Given the description of an element on the screen output the (x, y) to click on. 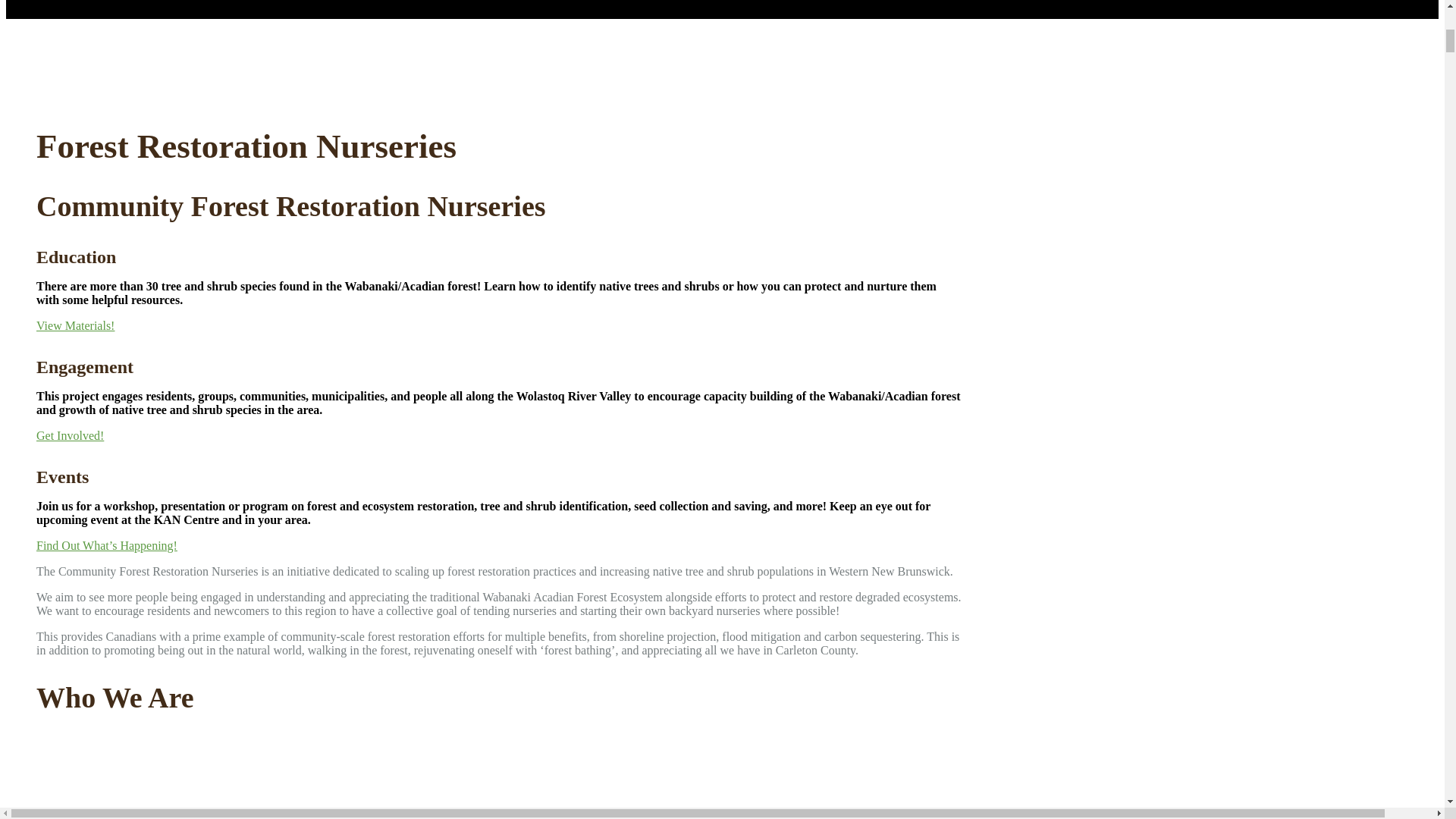
View Materials! (75, 325)
Get Involved! (69, 435)
